Given the description of an element on the screen output the (x, y) to click on. 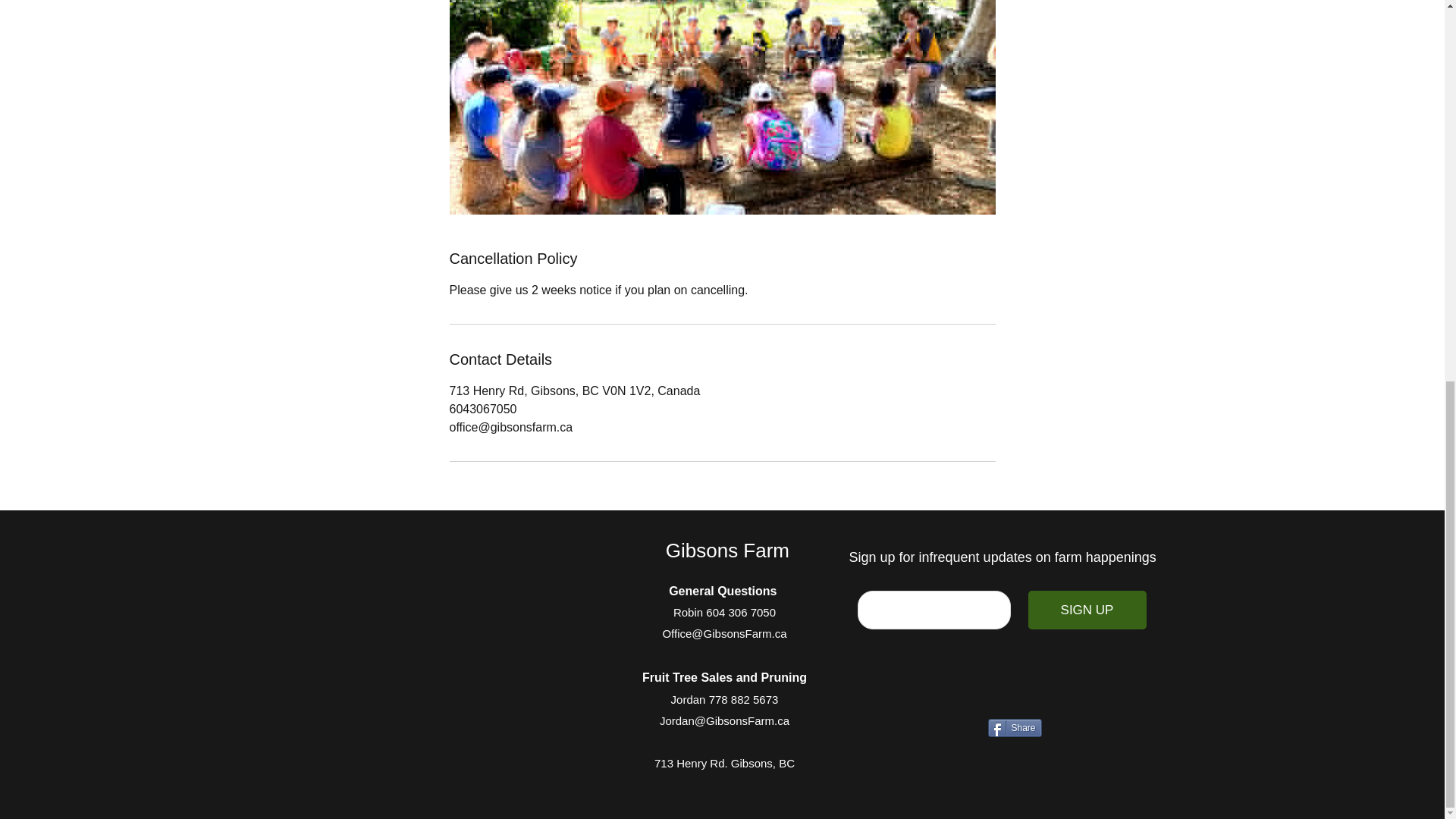
Gibsons Farm  (729, 549)
Share (1014, 728)
Share (1014, 728)
SIGN UP (1087, 609)
